Given the description of an element on the screen output the (x, y) to click on. 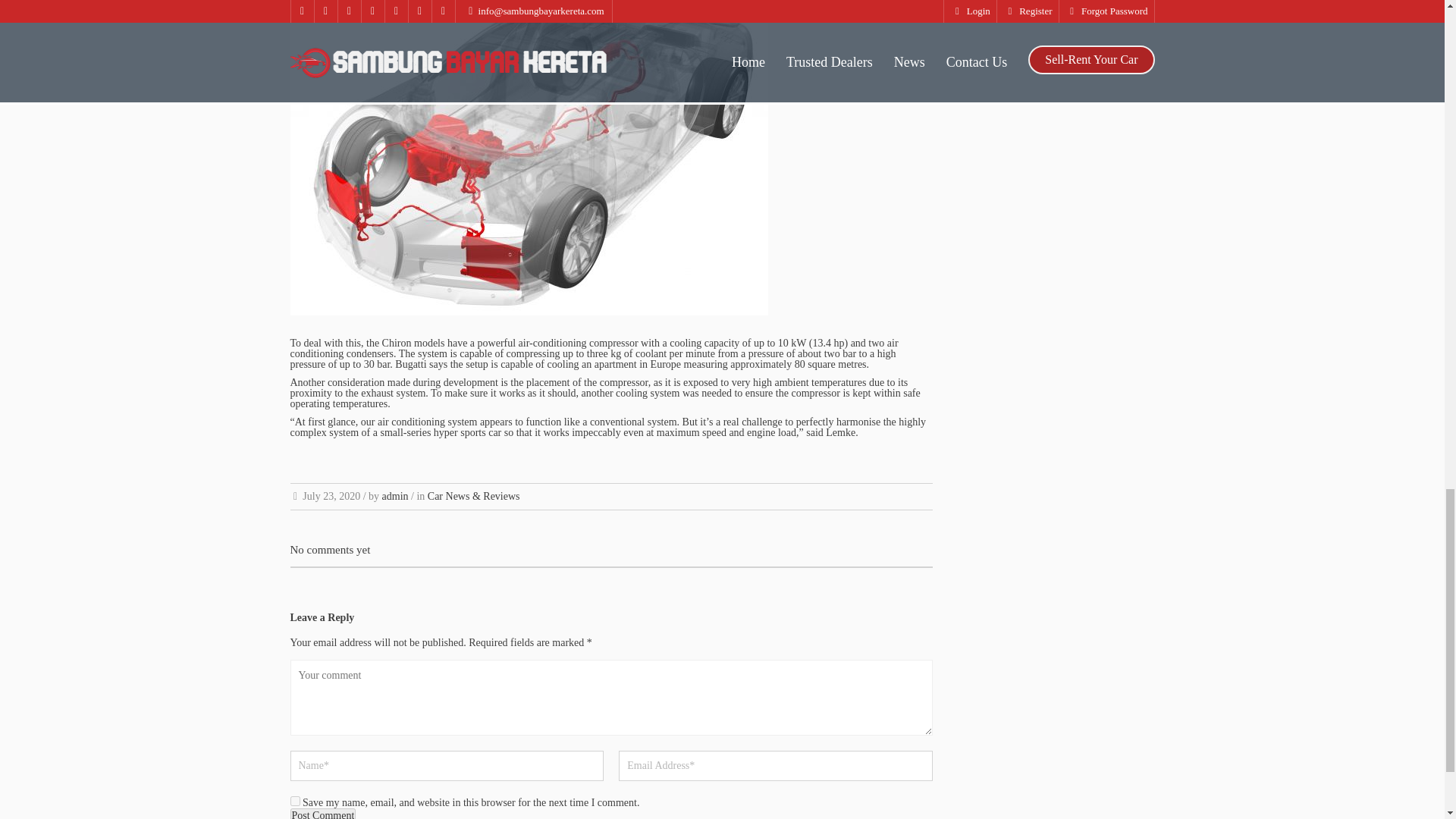
yes (294, 800)
Posts by admin (395, 496)
admin (395, 496)
No comments yet (329, 549)
